Given the description of an element on the screen output the (x, y) to click on. 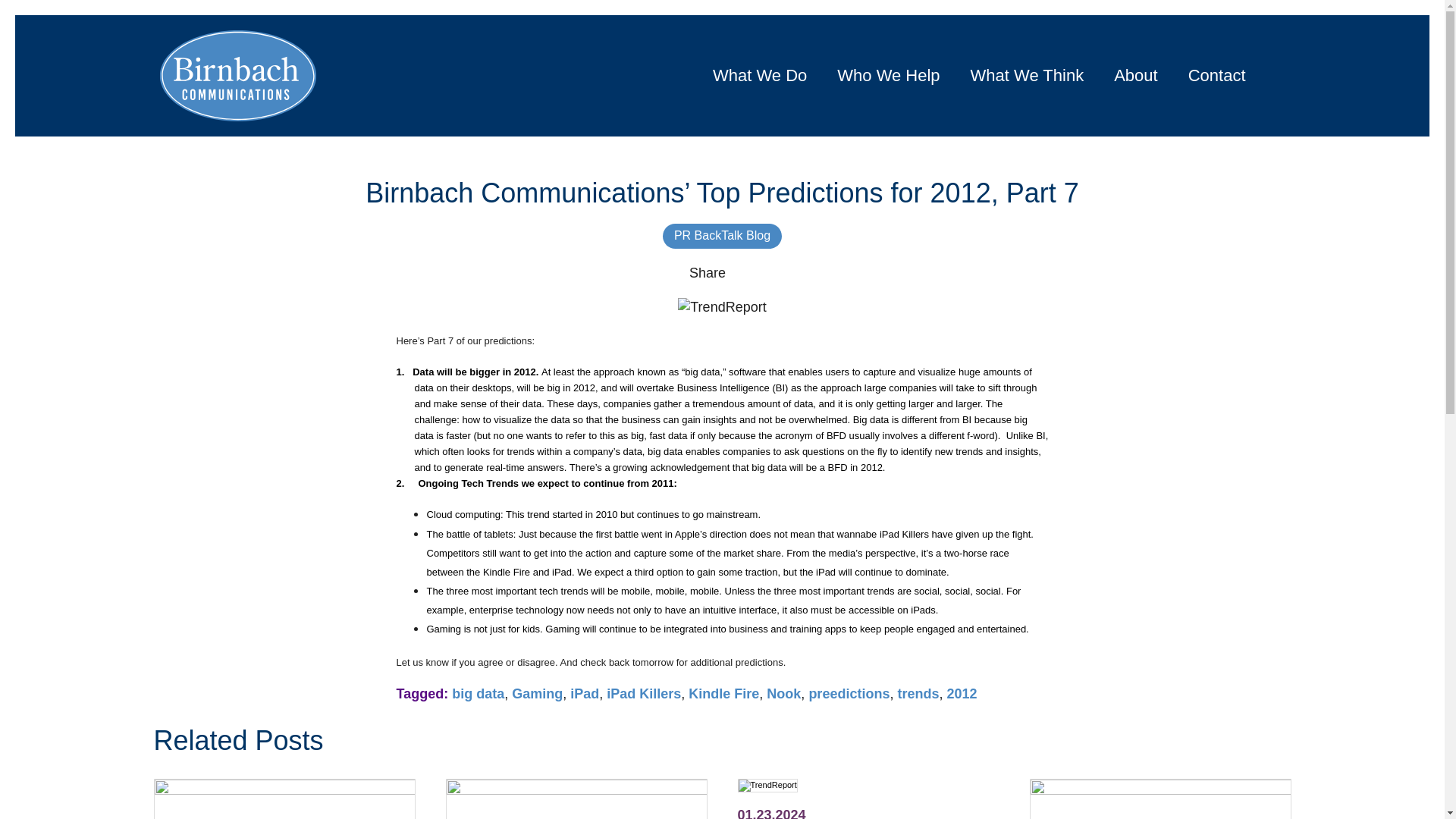
trends (917, 693)
2012 (576, 798)
About (961, 693)
Contact (1136, 75)
What We Think (1216, 75)
big data (1027, 75)
PR BackTalk Blog (477, 693)
iPad (721, 235)
